Given the description of an element on the screen output the (x, y) to click on. 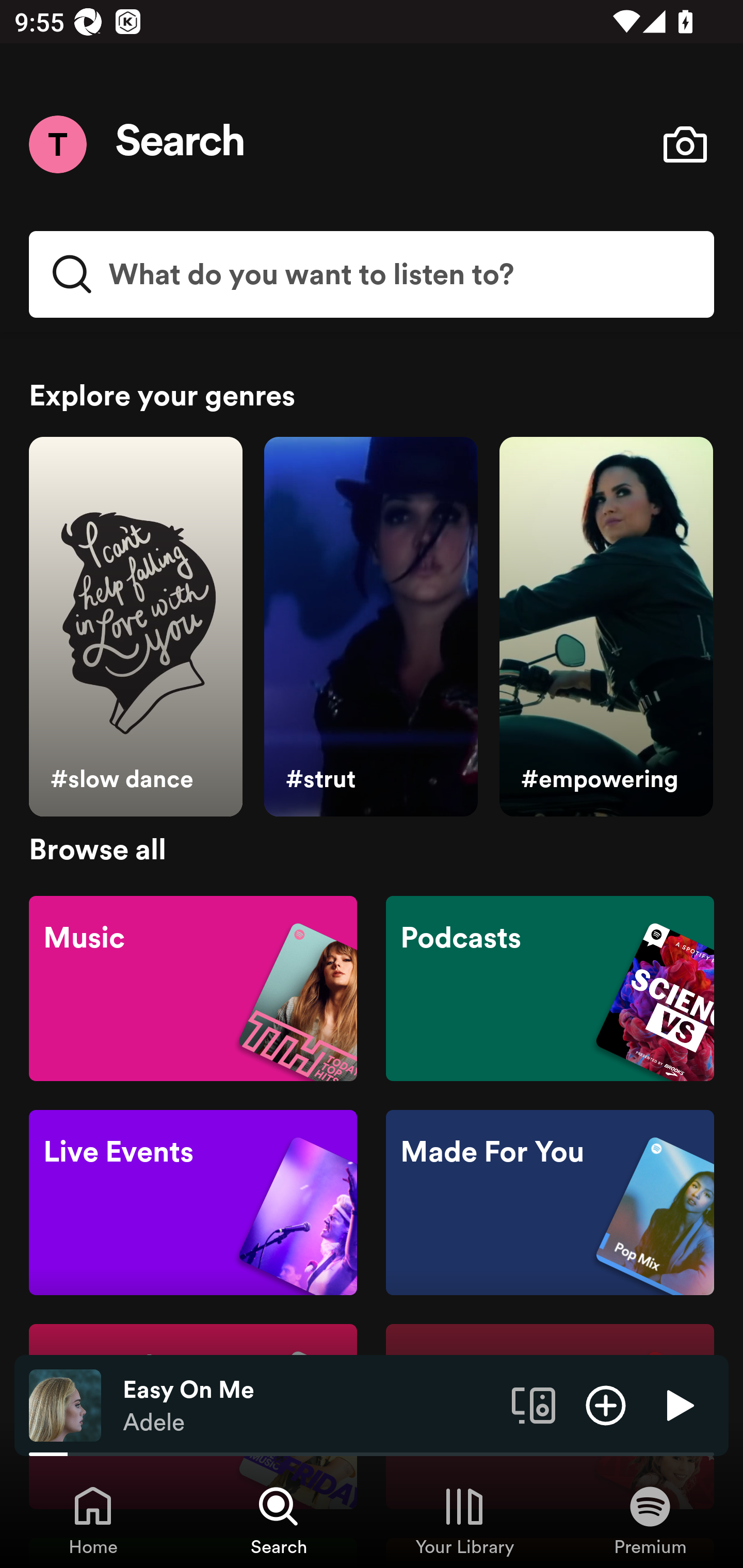
Menu (57, 144)
Open camera (685, 145)
Search (180, 144)
#slow dance (135, 626)
#strut (370, 626)
#empowering (606, 626)
Music (192, 987)
Podcasts (549, 987)
Live Events (192, 1202)
Made For You (549, 1202)
Easy On Me Adele (309, 1405)
The cover art of the currently playing track (64, 1404)
Connect to a device. Opens the devices menu (533, 1404)
Add item (605, 1404)
Play (677, 1404)
Home, Tab 1 of 4 Home Home (92, 1519)
Search, Tab 2 of 4 Search Search (278, 1519)
Your Library, Tab 3 of 4 Your Library Your Library (464, 1519)
Premium, Tab 4 of 4 Premium Premium (650, 1519)
